Given the description of an element on the screen output the (x, y) to click on. 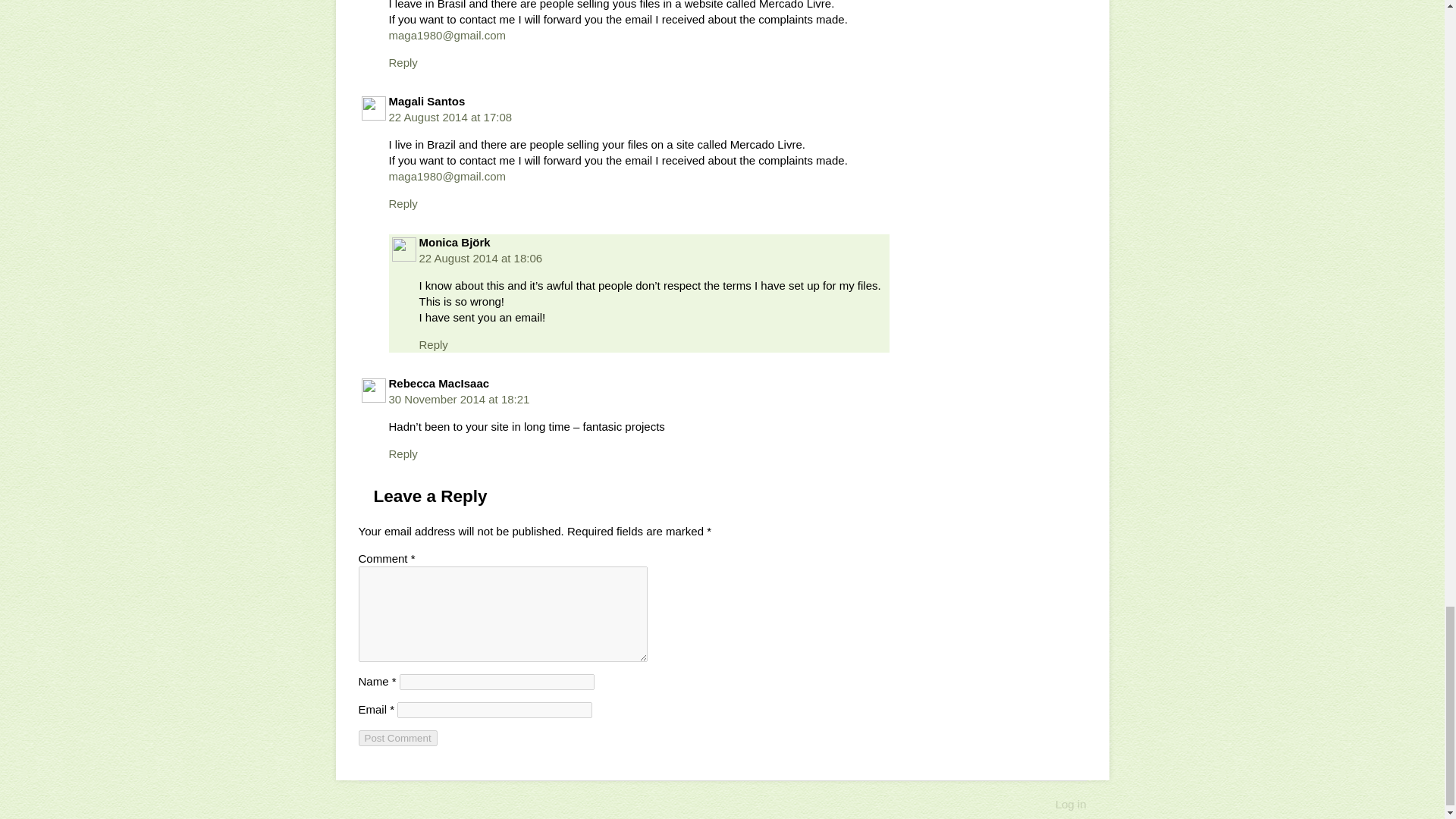
Reply (432, 344)
Reply (402, 62)
Post Comment (397, 738)
Reply (402, 203)
22 August 2014 at 18:06 (480, 257)
30 November 2014 at 18:21 (458, 399)
Post Comment (397, 738)
Reply (402, 453)
22 August 2014 at 17:08 (450, 116)
